Given the description of an element on the screen output the (x, y) to click on. 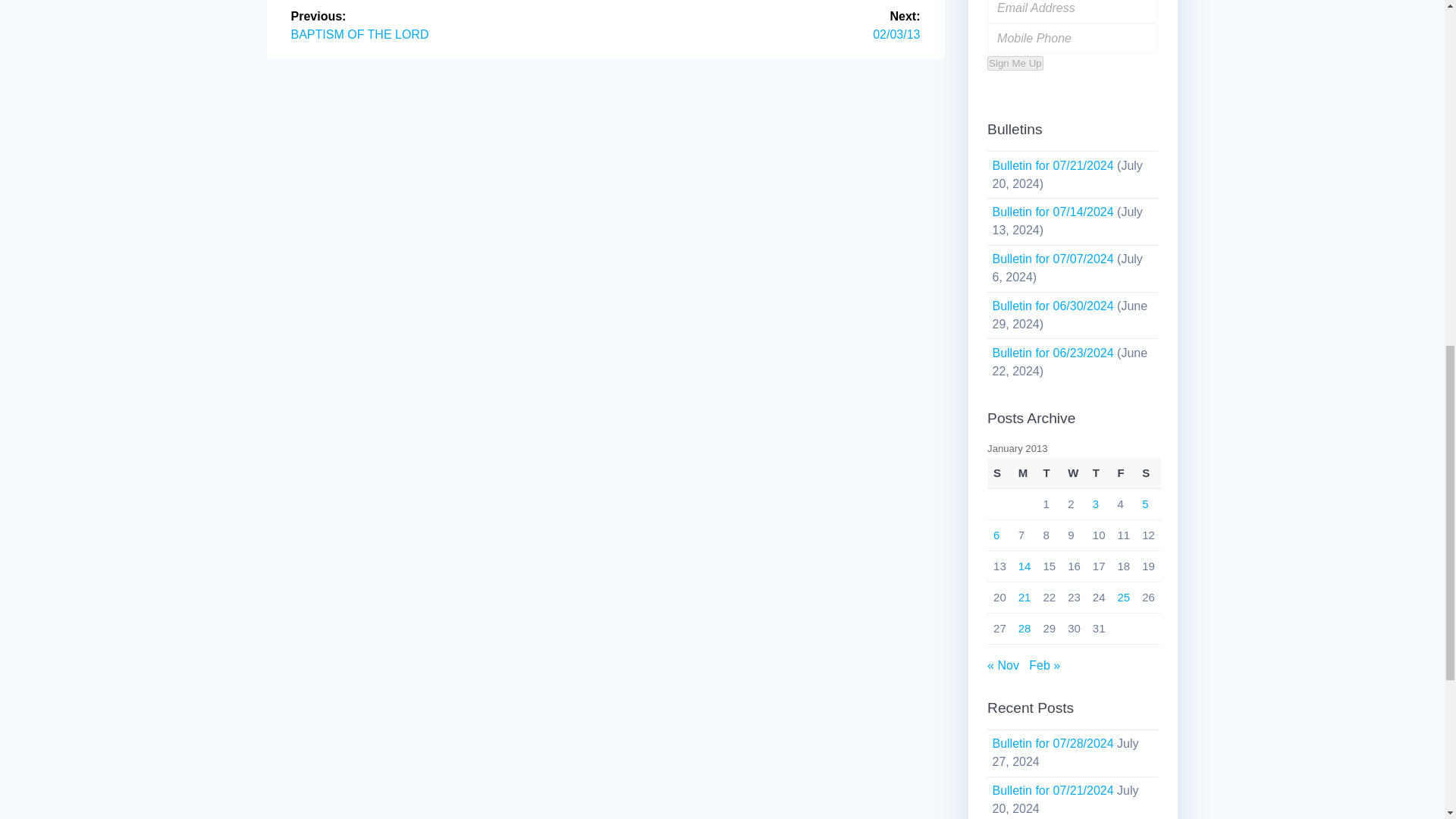
Sign Me Up (1015, 63)
25 (1124, 596)
21 (1023, 596)
14 (1023, 565)
